Given the description of an element on the screen output the (x, y) to click on. 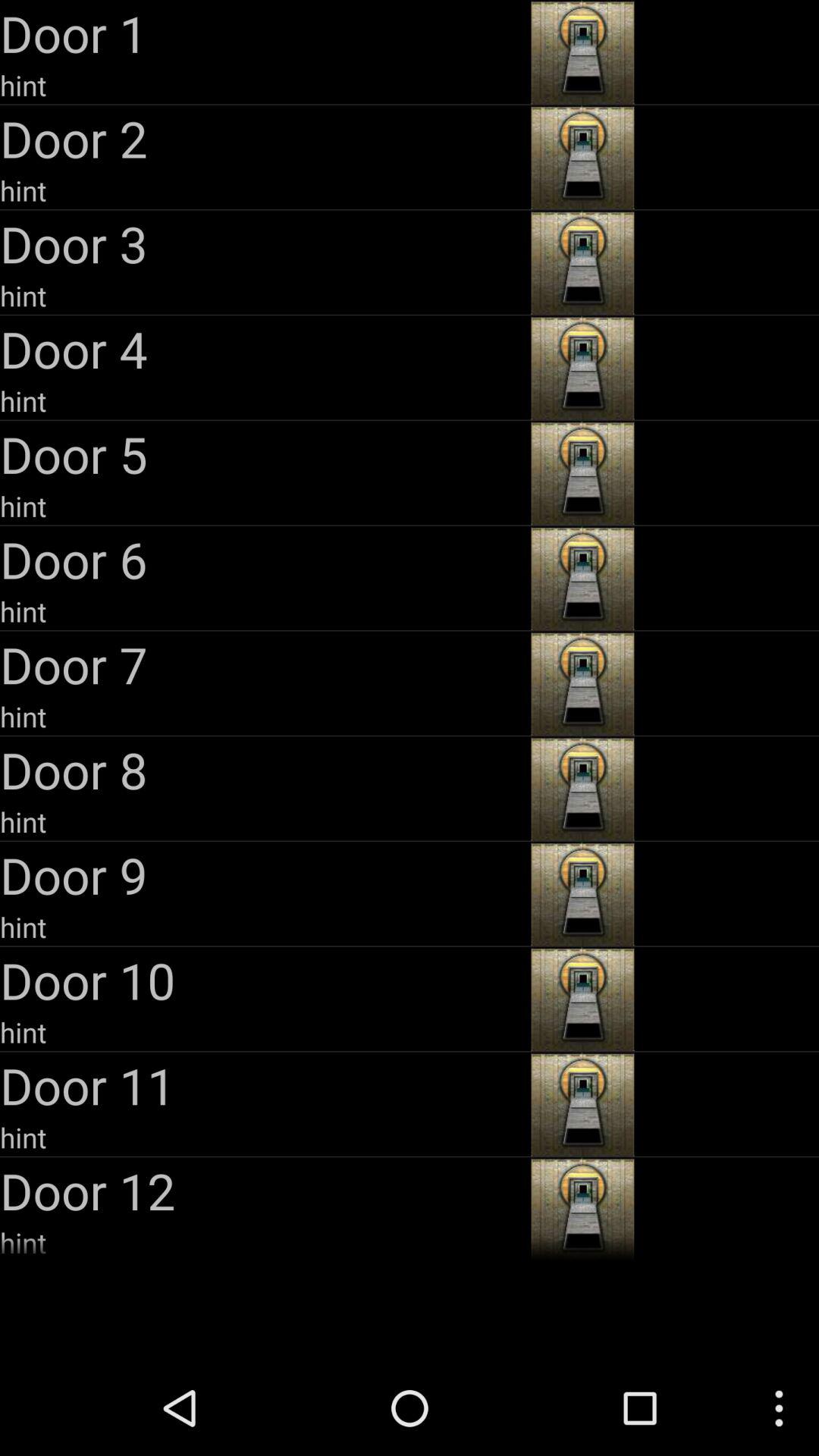
choose the item above the hint (263, 348)
